Given the description of an element on the screen output the (x, y) to click on. 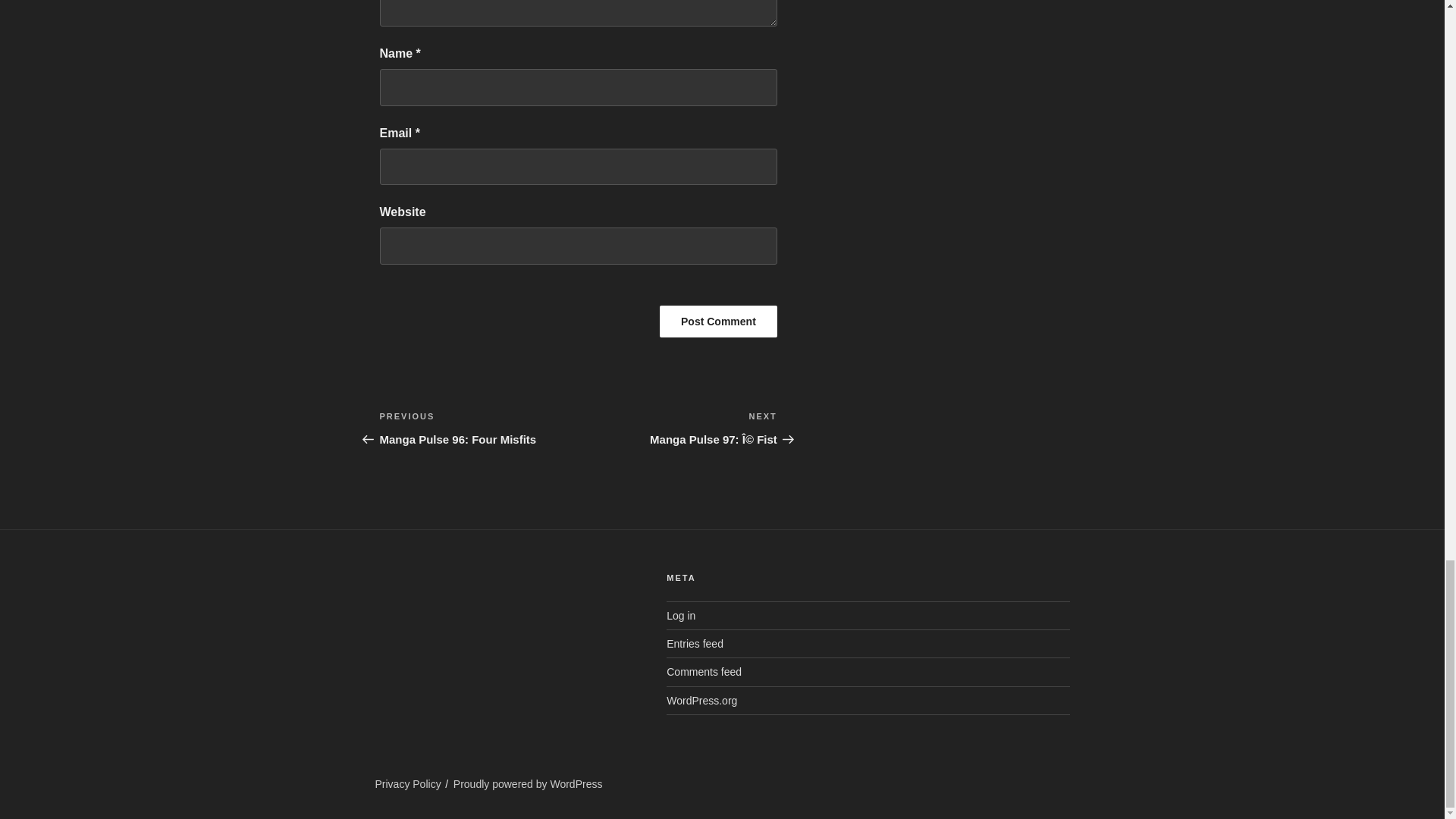
Post Comment (718, 321)
Post Comment (718, 321)
